Given the description of an element on the screen output the (x, y) to click on. 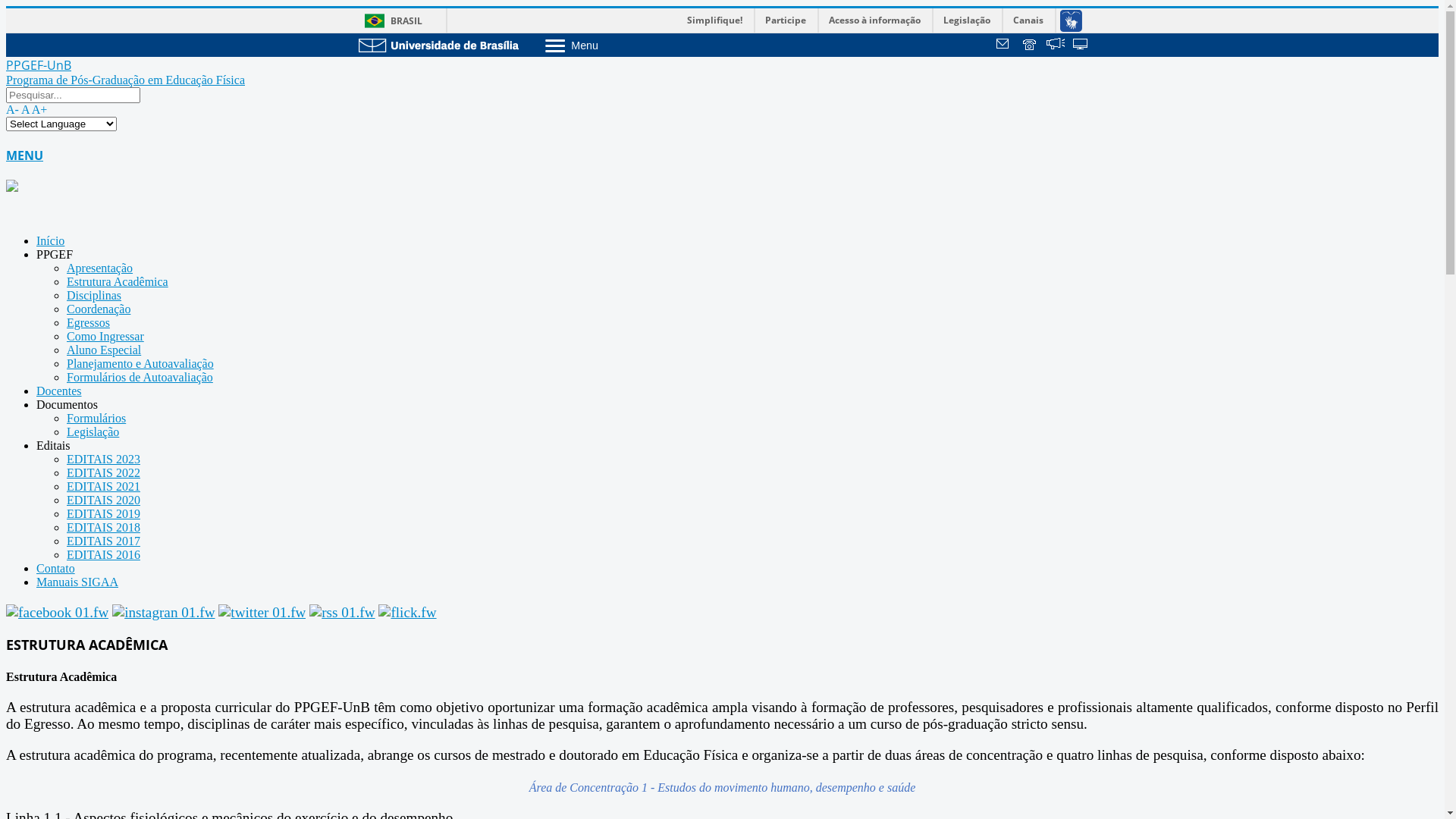
  Element type: text (1030, 45)
Simplifique! Element type: text (714, 19)
Egressos Element type: text (87, 322)
Manuais SIGAA Element type: text (77, 581)
Webmail Element type: hover (1004, 45)
Telefones da UnB Element type: hover (1030, 45)
Disciplinas Element type: text (93, 294)
  Element type: text (1081, 45)
EDITAIS 2021 Element type: text (103, 486)
Como Ingressar Element type: text (105, 335)
EDITAIS 2019 Element type: text (103, 513)
  Element type: text (1004, 45)
Menu Element type: text (610, 44)
A Element type: text (25, 109)
Fala.BR Element type: hover (1055, 45)
MENU Element type: text (722, 170)
Contato Element type: text (55, 567)
EDITAIS 2022 Element type: text (103, 472)
EDITAIS 2023 Element type: text (103, 458)
A- Element type: text (12, 109)
EDITAIS 2017 Element type: text (103, 540)
EDITAIS 2016 Element type: text (103, 554)
Aluno Especial Element type: text (103, 349)
EDITAIS 2020 Element type: text (103, 499)
Ir para o Portal da UnB Element type: hover (438, 43)
A+ Element type: text (39, 109)
Docentes Element type: text (58, 390)
Sistemas Element type: hover (1081, 45)
Participe Element type: text (786, 19)
EDITAIS 2018 Element type: text (103, 526)
BRASIL Element type: text (389, 20)
  Element type: text (1055, 45)
Canais Element type: text (1028, 19)
